Given the description of an element on the screen output the (x, y) to click on. 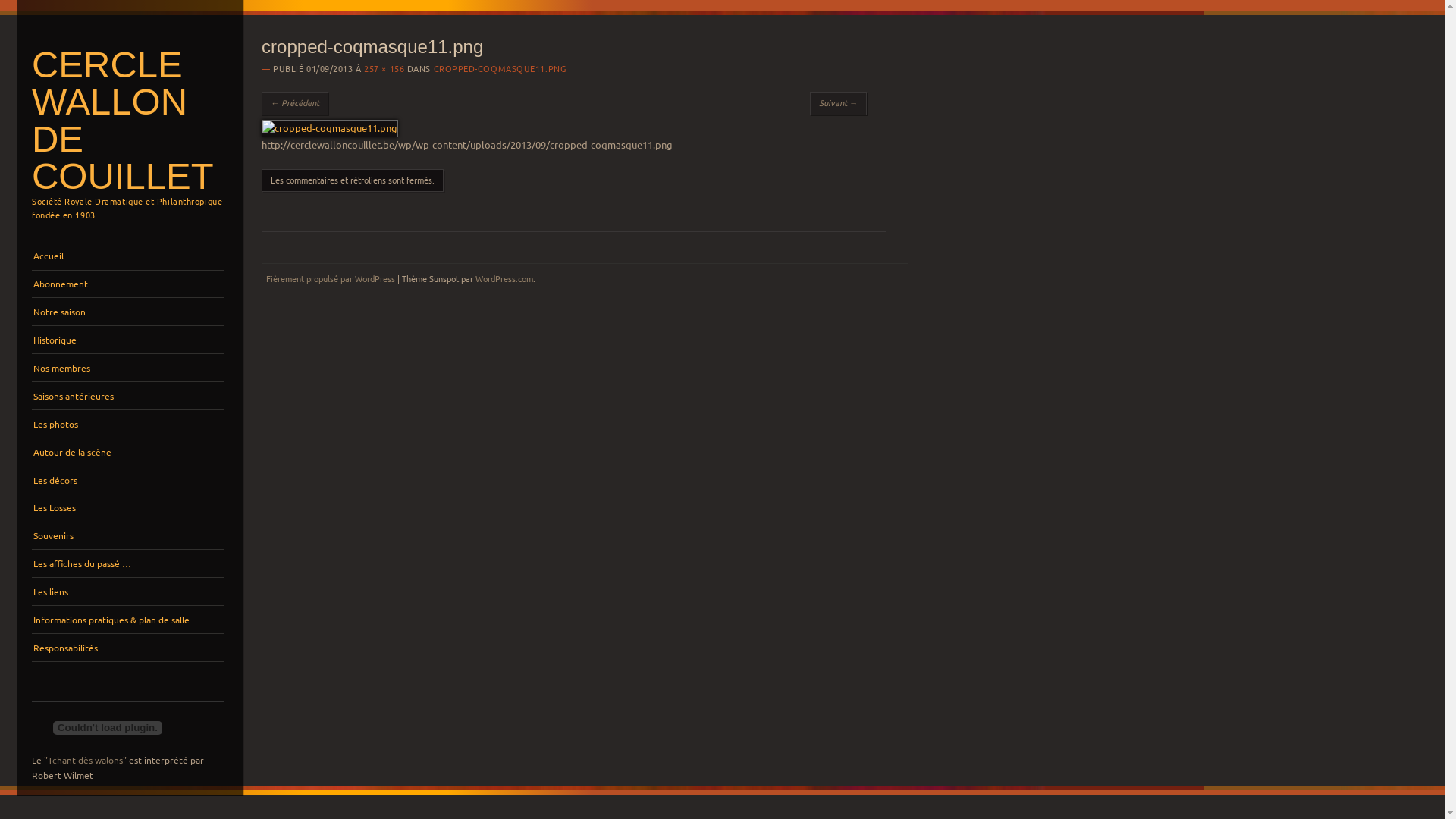
Les liens Element type: text (127, 591)
cropped-coqmasque11.png Element type: hover (329, 127)
Abonnement Element type: text (127, 283)
Souvenirs Element type: text (127, 535)
Historique Element type: text (127, 339)
CROPPED-COQMASQUE11.PNG Element type: text (499, 68)
Nos membres Element type: text (127, 367)
Notre saison Element type: text (127, 311)
Les Losses Element type: text (127, 507)
Les photos Element type: text (127, 423)
Accueil Element type: text (127, 255)
Informations pratiques & plan de salle Element type: text (127, 619)
WordPress.com Element type: text (504, 278)
Aller au contenu principal Element type: text (84, 250)
CERCLE WALLON DE COUILLET Element type: text (122, 119)
